Given the description of an element on the screen output the (x, y) to click on. 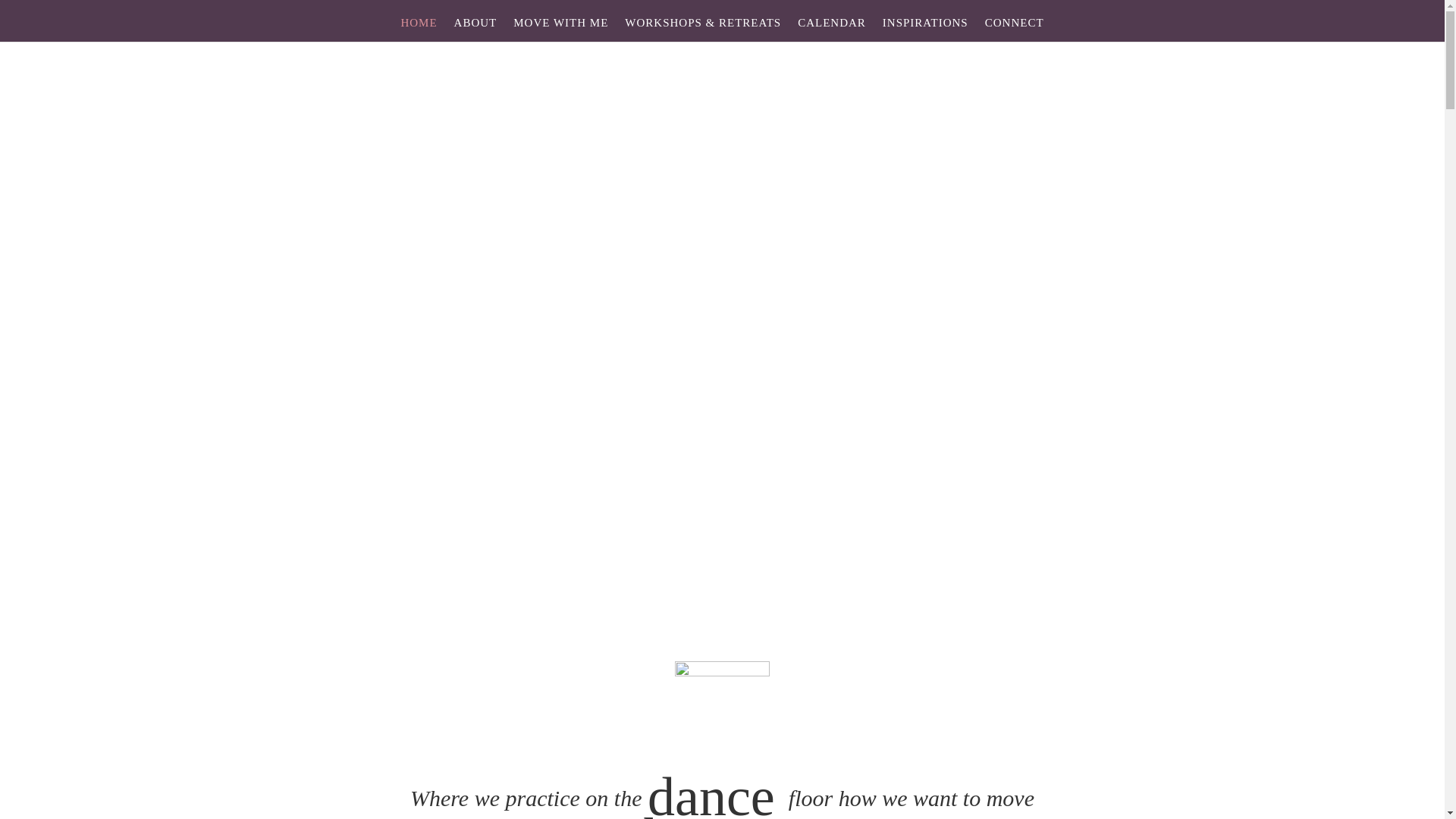
ABOUT (475, 29)
INSPIRATIONS (925, 29)
CALENDAR (831, 29)
HOME (418, 29)
CONNECT (1014, 29)
MOVE WITH ME (560, 29)
